Given the description of an element on the screen output the (x, y) to click on. 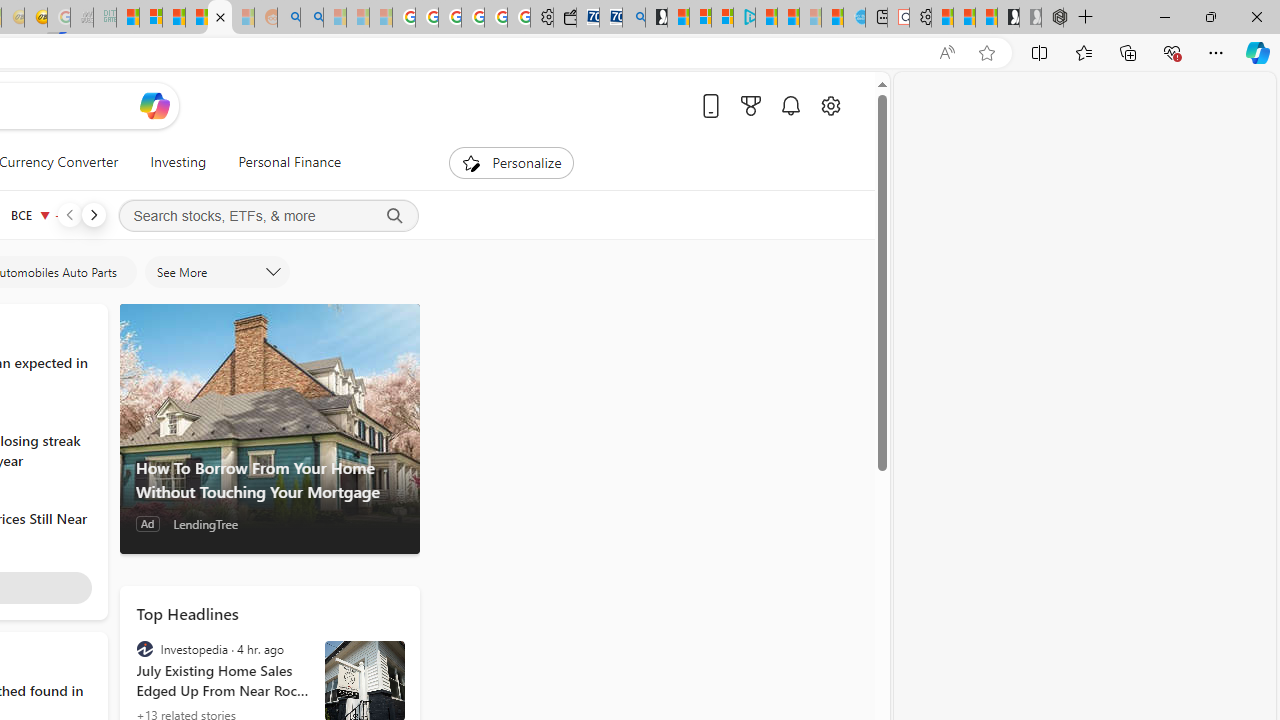
Microsoft rewards (749, 105)
Investing (178, 162)
Next (93, 214)
DITOGAMES AG Imprint - Sleeping (104, 17)
Ad (146, 524)
